Given the description of an element on the screen output the (x, y) to click on. 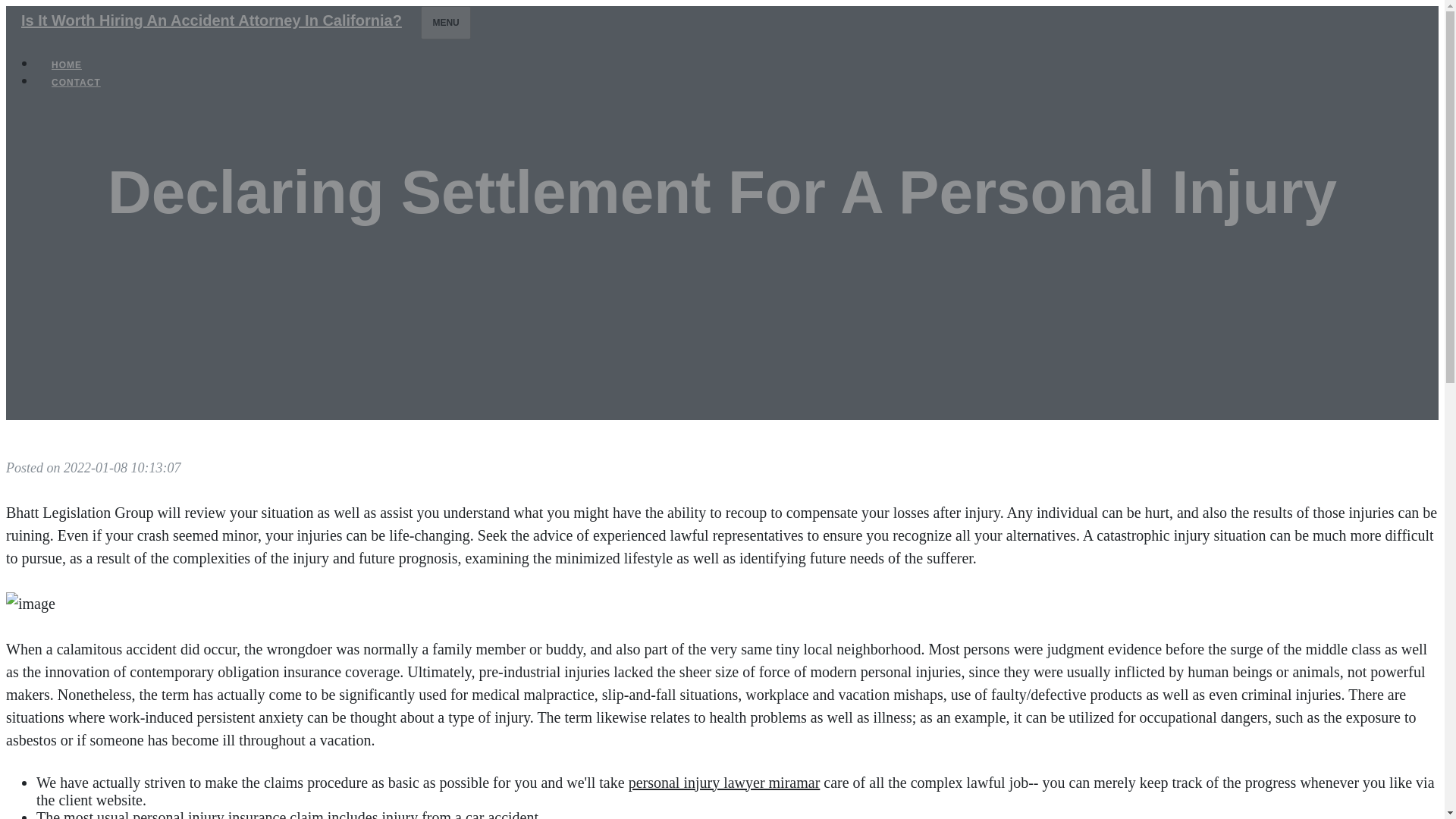
HOME (66, 64)
CONTACT (76, 82)
Is It Worth Hiring An Accident Attorney In California? (210, 20)
personal injury lawyer miramar (724, 782)
MENU (445, 22)
